Given the description of an element on the screen output the (x, y) to click on. 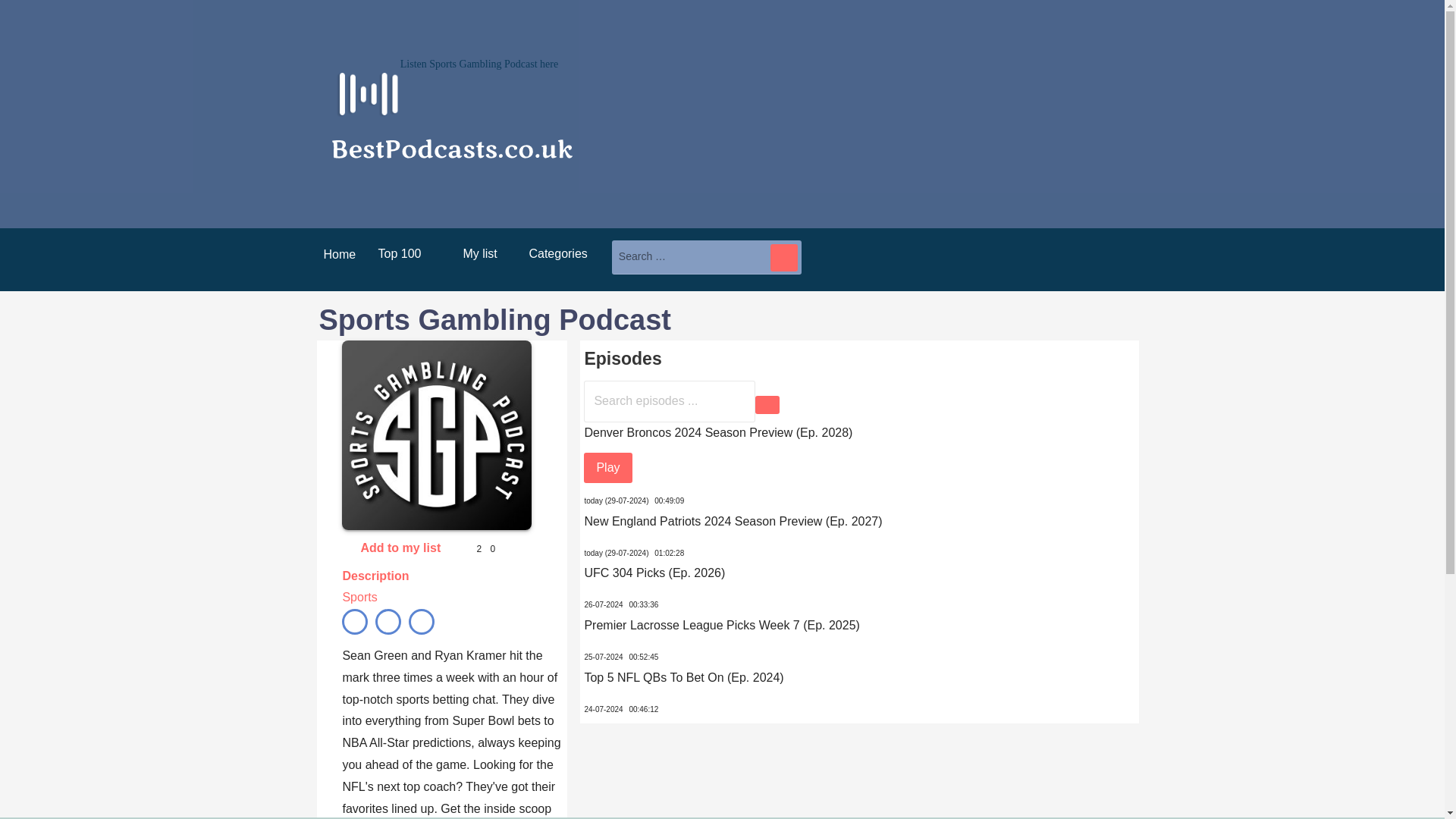
My list (474, 253)
Categories (557, 253)
Home (334, 259)
Top 100 (398, 253)
